Given the description of an element on the screen output the (x, y) to click on. 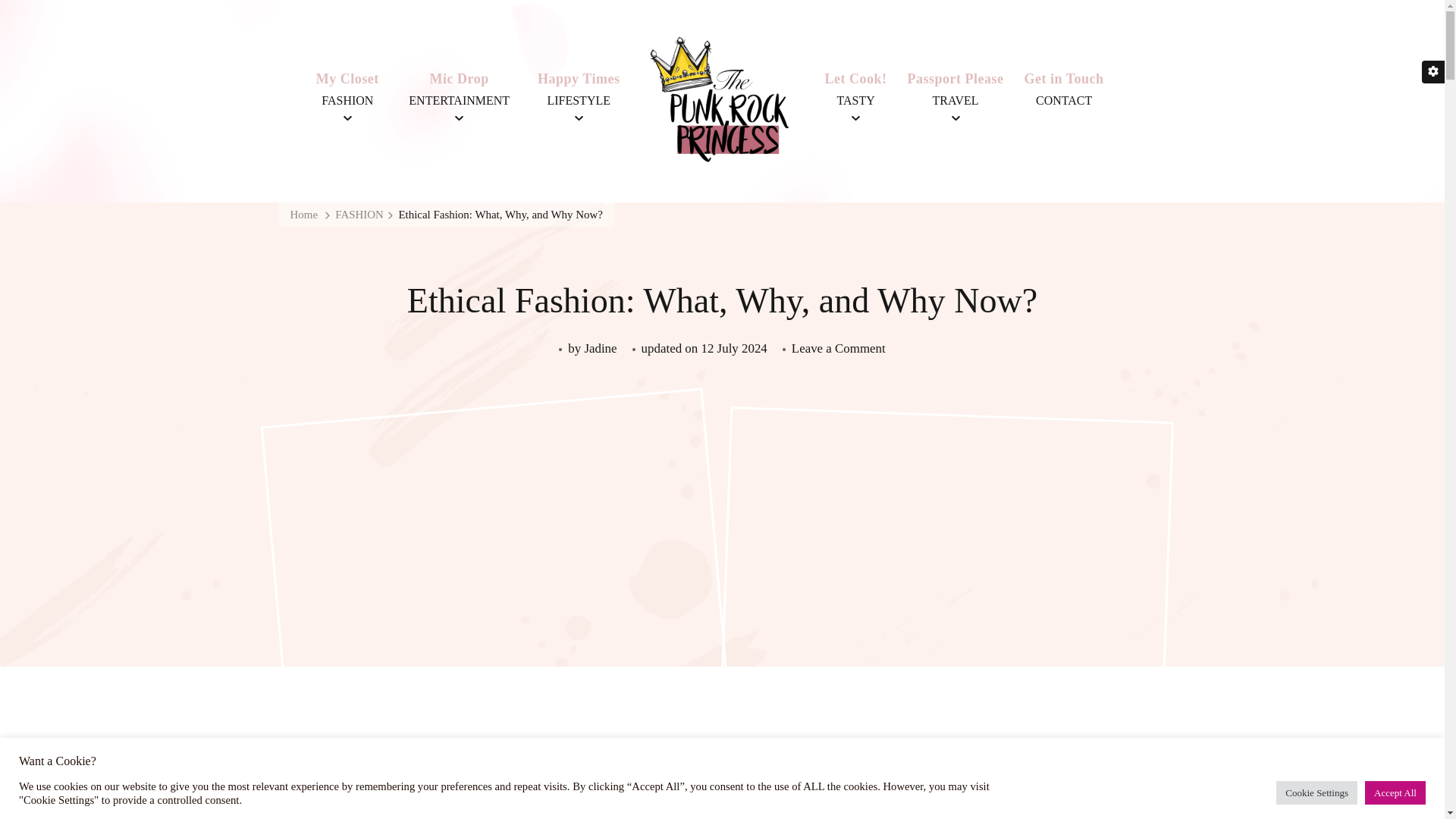
FASHION (347, 100)
ENTERTAINMENT (458, 100)
LIFESTYLE (577, 100)
TASTY (855, 100)
TRAVEL (955, 100)
CONTACT (1063, 100)
